Given the description of an element on the screen output the (x, y) to click on. 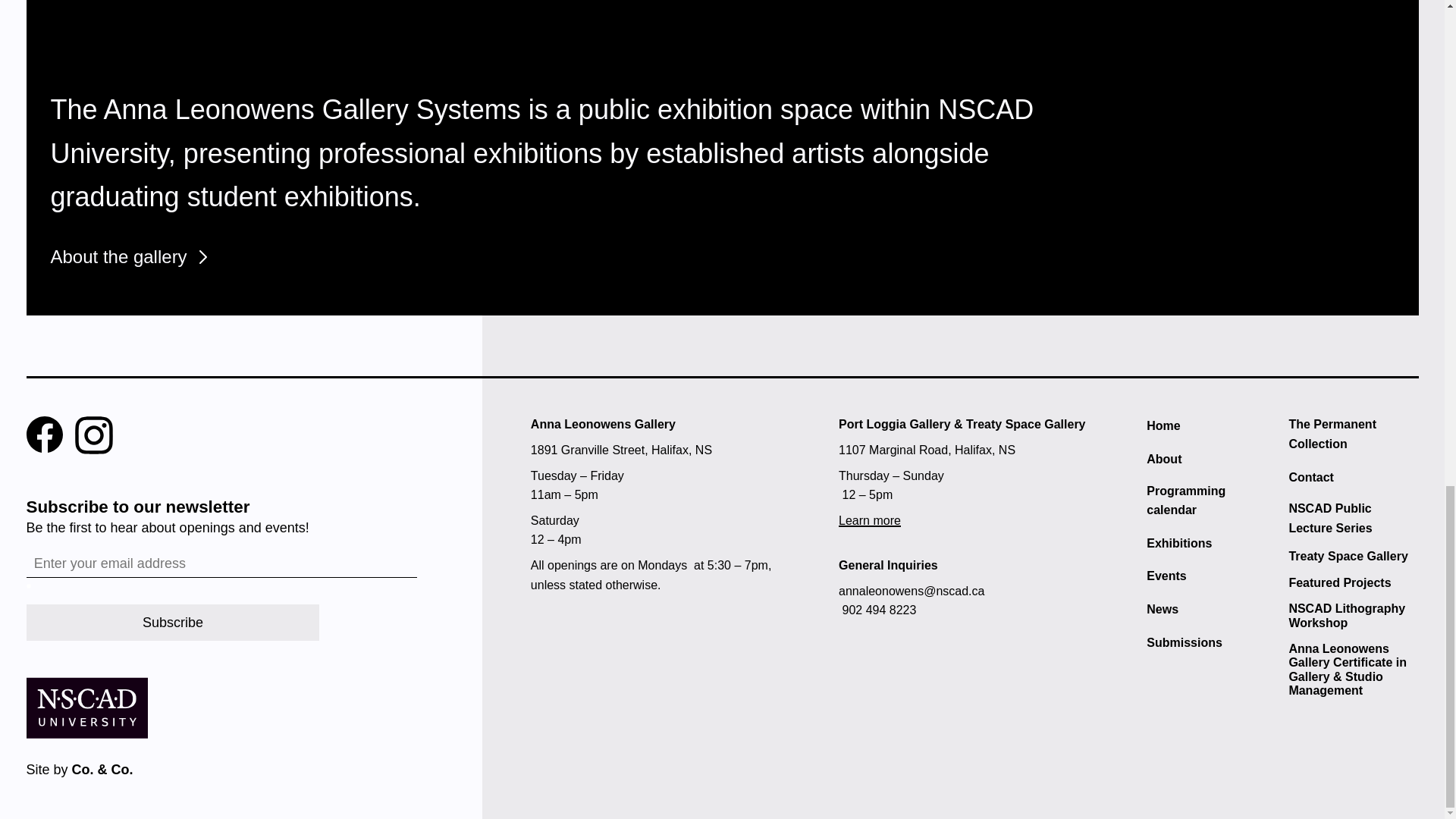
Contact (1353, 477)
Learn more (869, 520)
Follow us on Instagram (93, 435)
Exhibitions (1211, 543)
About the gallery (117, 256)
Home (1353, 433)
NSCAD Public Lecture Series (1211, 425)
Events (1353, 517)
Submissions (1211, 576)
Subscribe (1211, 642)
News (172, 622)
Subscribe (1211, 609)
About (1211, 500)
